Given the description of an element on the screen output the (x, y) to click on. 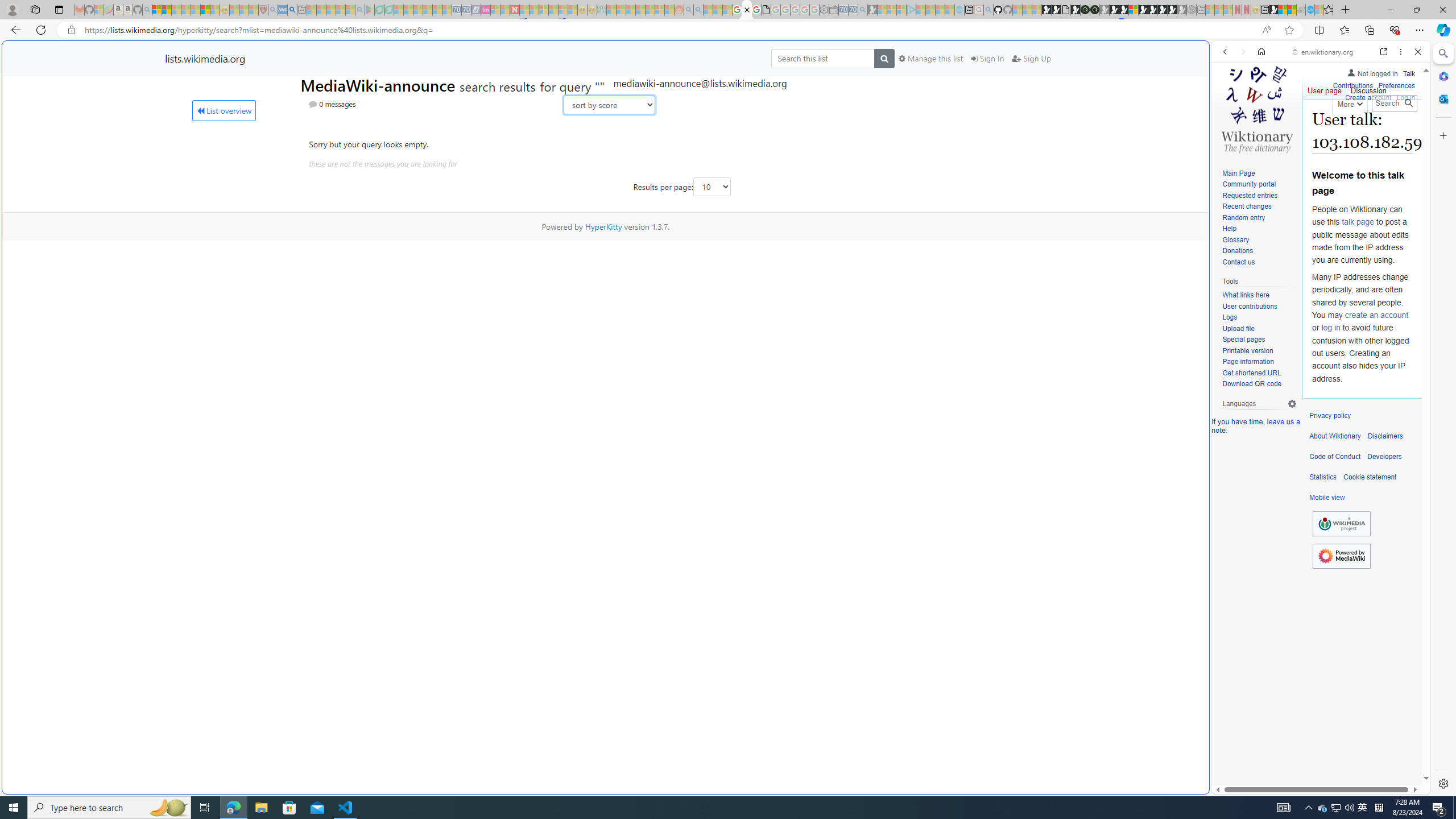
Developers (1384, 456)
Create account (1367, 98)
Special pages (1243, 339)
AutomationID: sort-search (609, 104)
Main Page (1259, 173)
MediaWiki-announce  (379, 84)
